Given the description of an element on the screen output the (x, y) to click on. 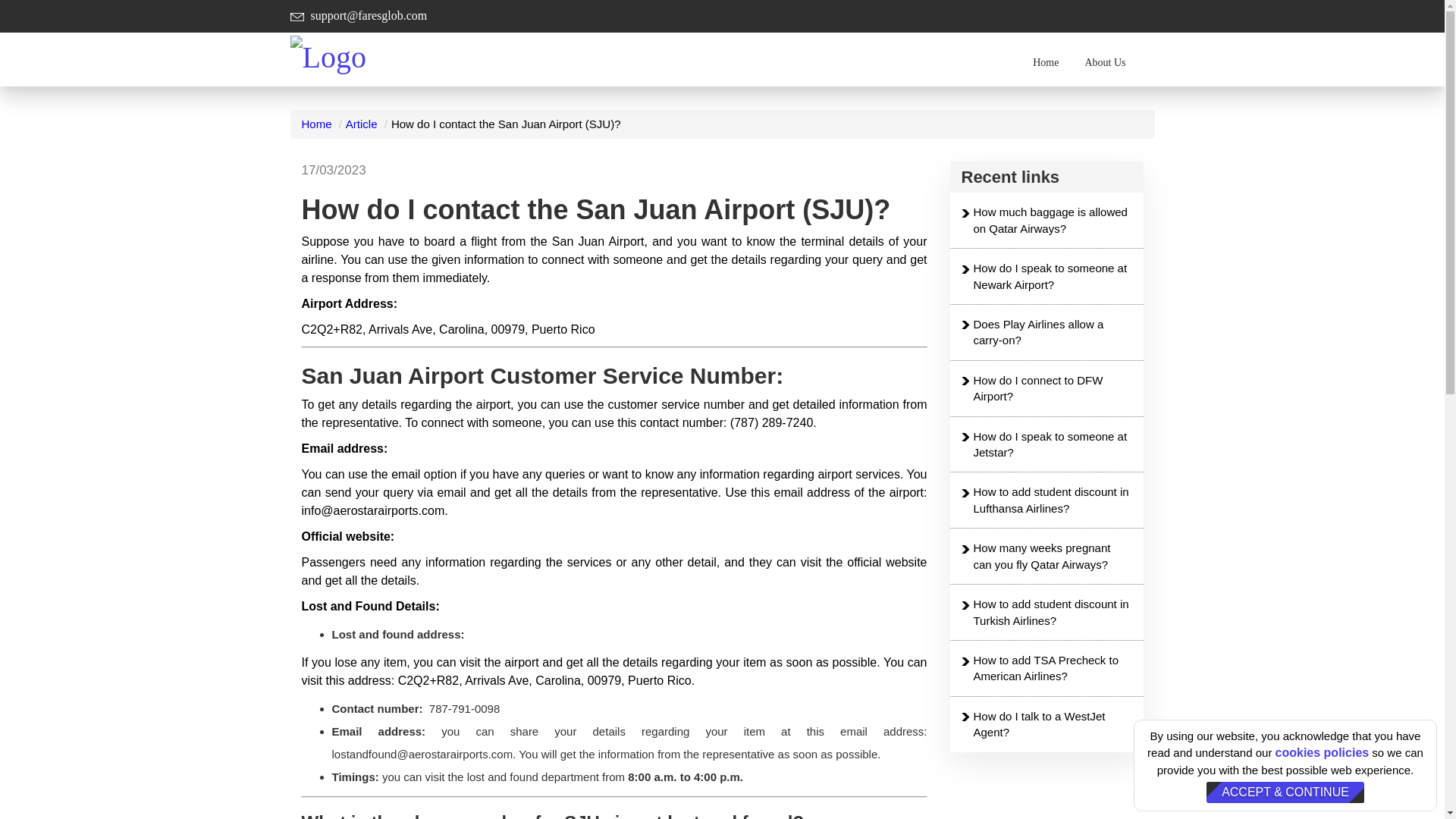
How do I speak to someone at Newark Airport? (1053, 276)
Home (316, 123)
Does Play Airlines allow a carry-on? (1053, 332)
Home (1046, 62)
How many weeks pregnant can you fly Qatar Airways? (1053, 555)
How to add TSA Precheck to American Airlines? (1053, 667)
How do I talk to a WestJet Agent? (1053, 724)
About Us (1105, 62)
Article (361, 123)
How to add student discount in Lufthansa Airlines? (1053, 500)
How do I speak to someone at Jetstar? (1053, 444)
How to add student discount in Turkish Airlines? (1053, 612)
How do I connect to DFW Airport? (1053, 388)
cookies policies (1322, 752)
How much baggage is allowed on Qatar Airways? (1053, 219)
